Given the description of an element on the screen output the (x, y) to click on. 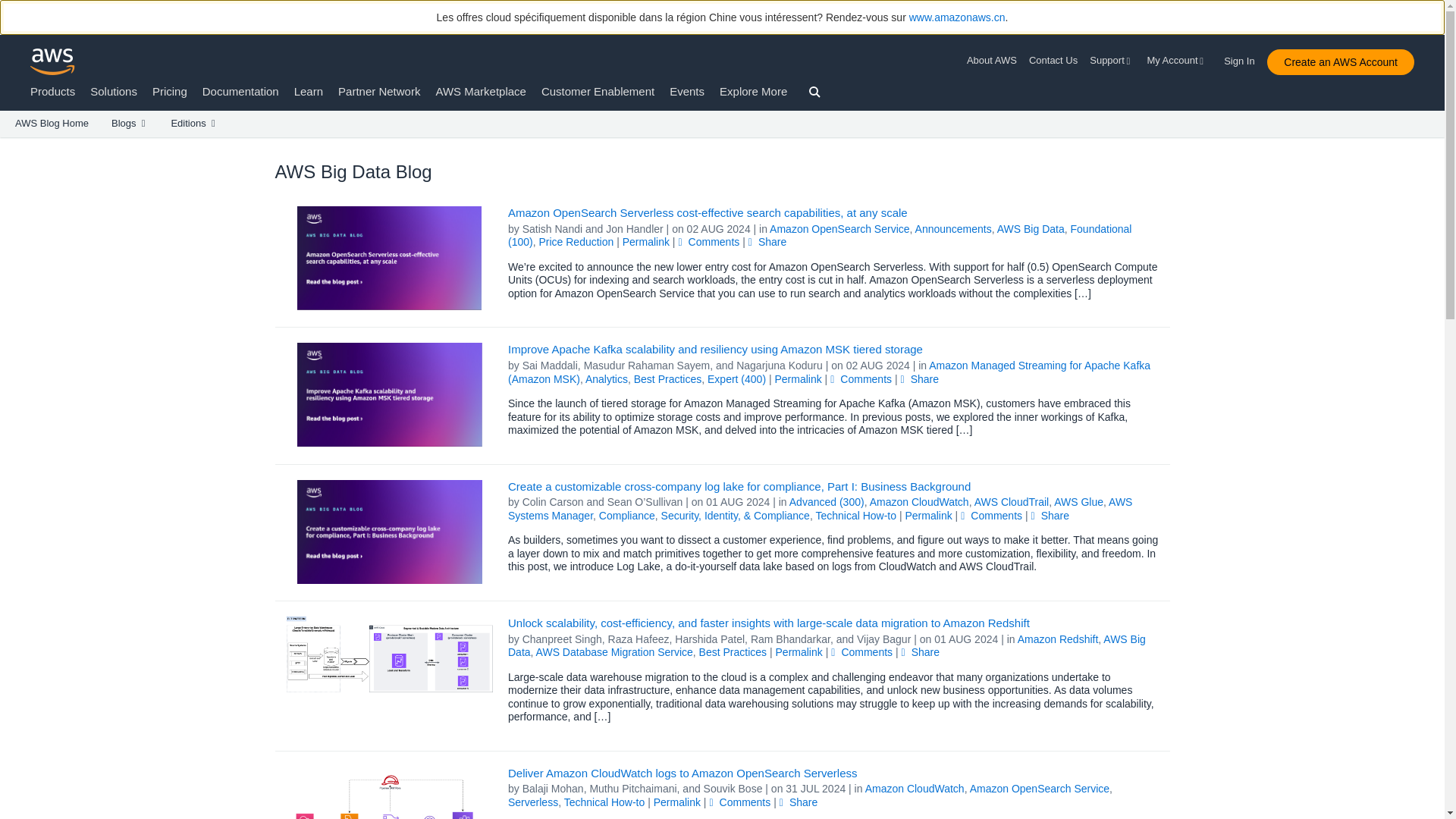
Events (686, 91)
View all posts in Amazon CloudWatch (919, 501)
Support  (1111, 60)
View all posts in Compliance (626, 515)
Partner Network (378, 91)
View all posts in Price Reduction (575, 241)
Create an AWS Account (1339, 62)
Customer Enablement (597, 91)
Solutions (113, 91)
Documentation (240, 91)
